Given the description of an element on the screen output the (x, y) to click on. 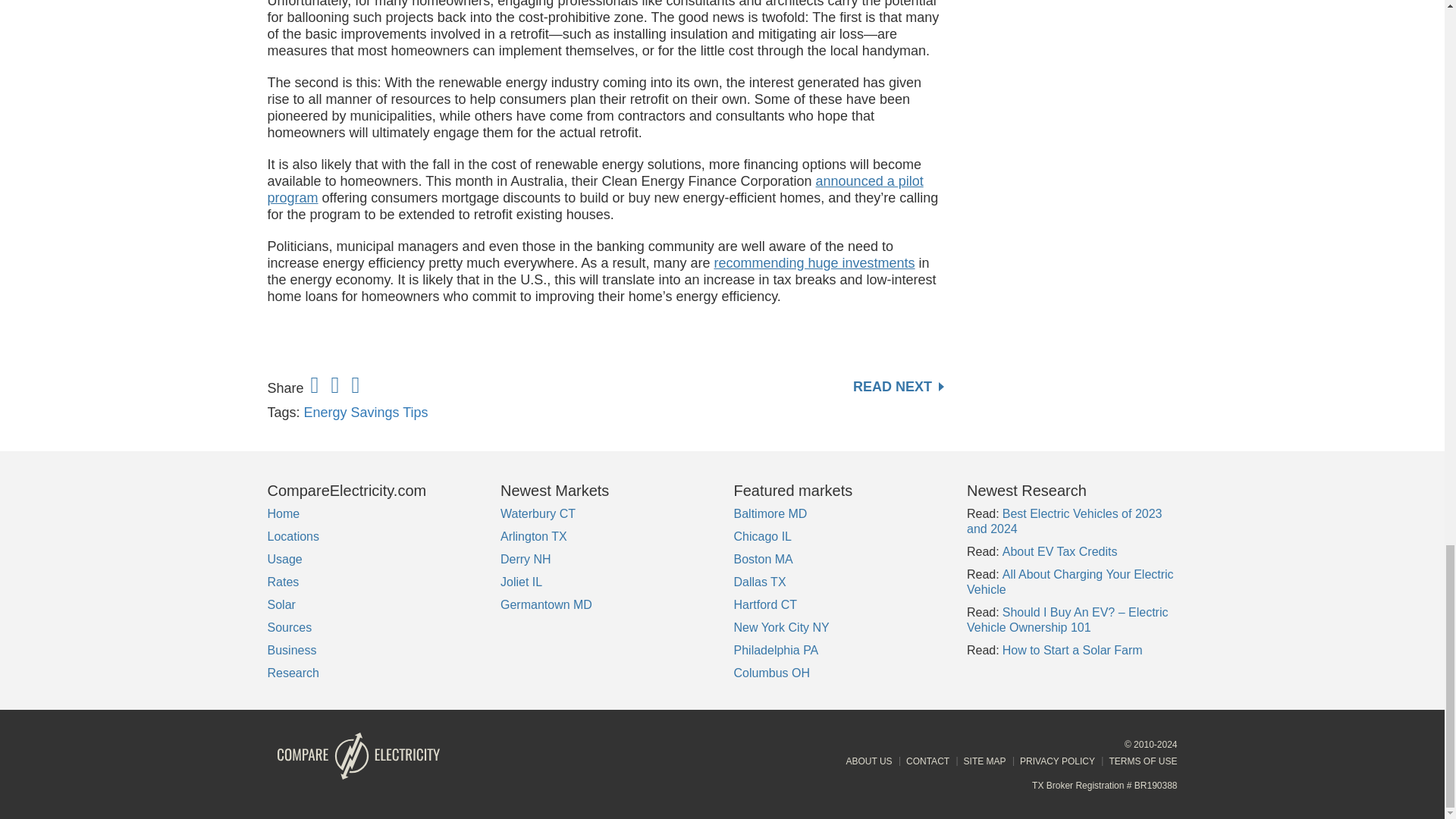
recommending huge investments (813, 263)
Energy Savings Tips (366, 412)
announced a pilot program (594, 189)
READ NEXT (898, 386)
